Given the description of an element on the screen output the (x, y) to click on. 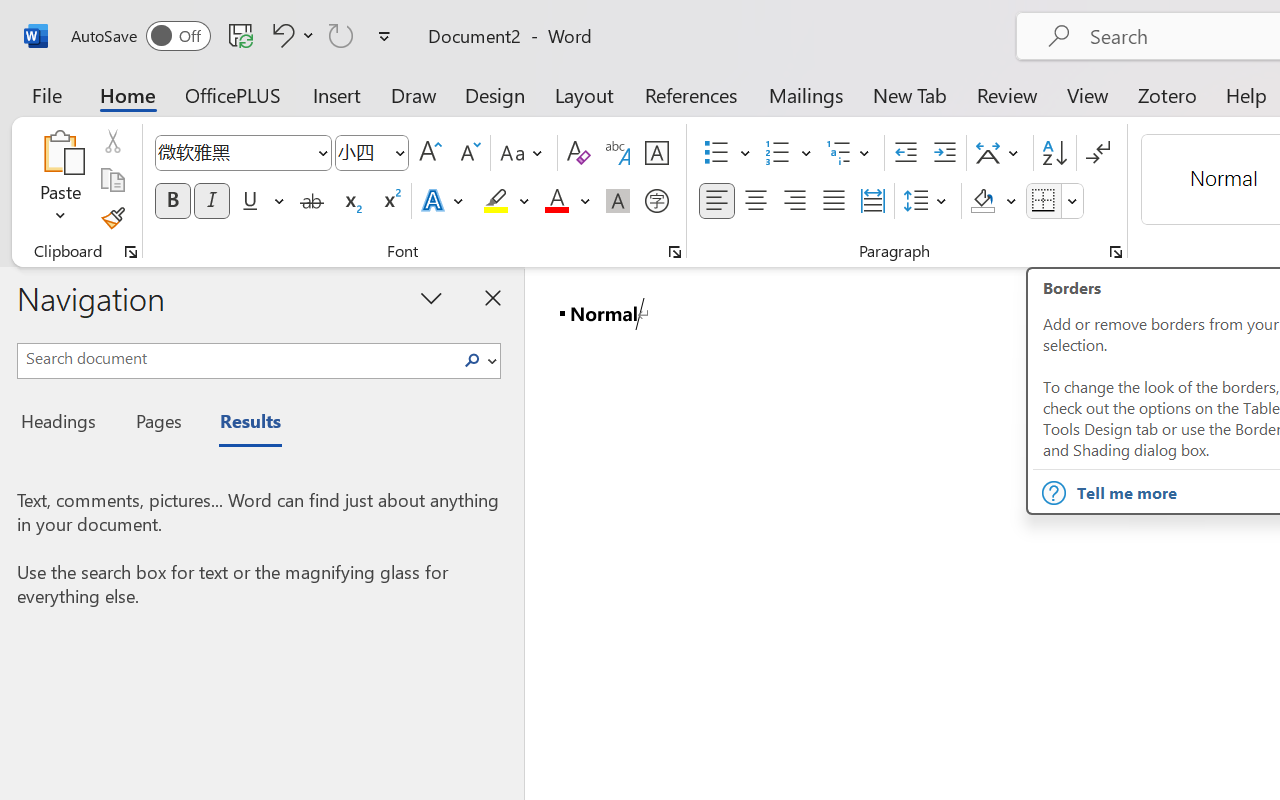
Bullets (716, 153)
Font (242, 153)
Bold (172, 201)
Underline (250, 201)
Paste (60, 151)
Strikethrough (312, 201)
Search (471, 360)
Save (241, 35)
Undo Style (290, 35)
Increase Indent (944, 153)
